Given the description of an element on the screen output the (x, y) to click on. 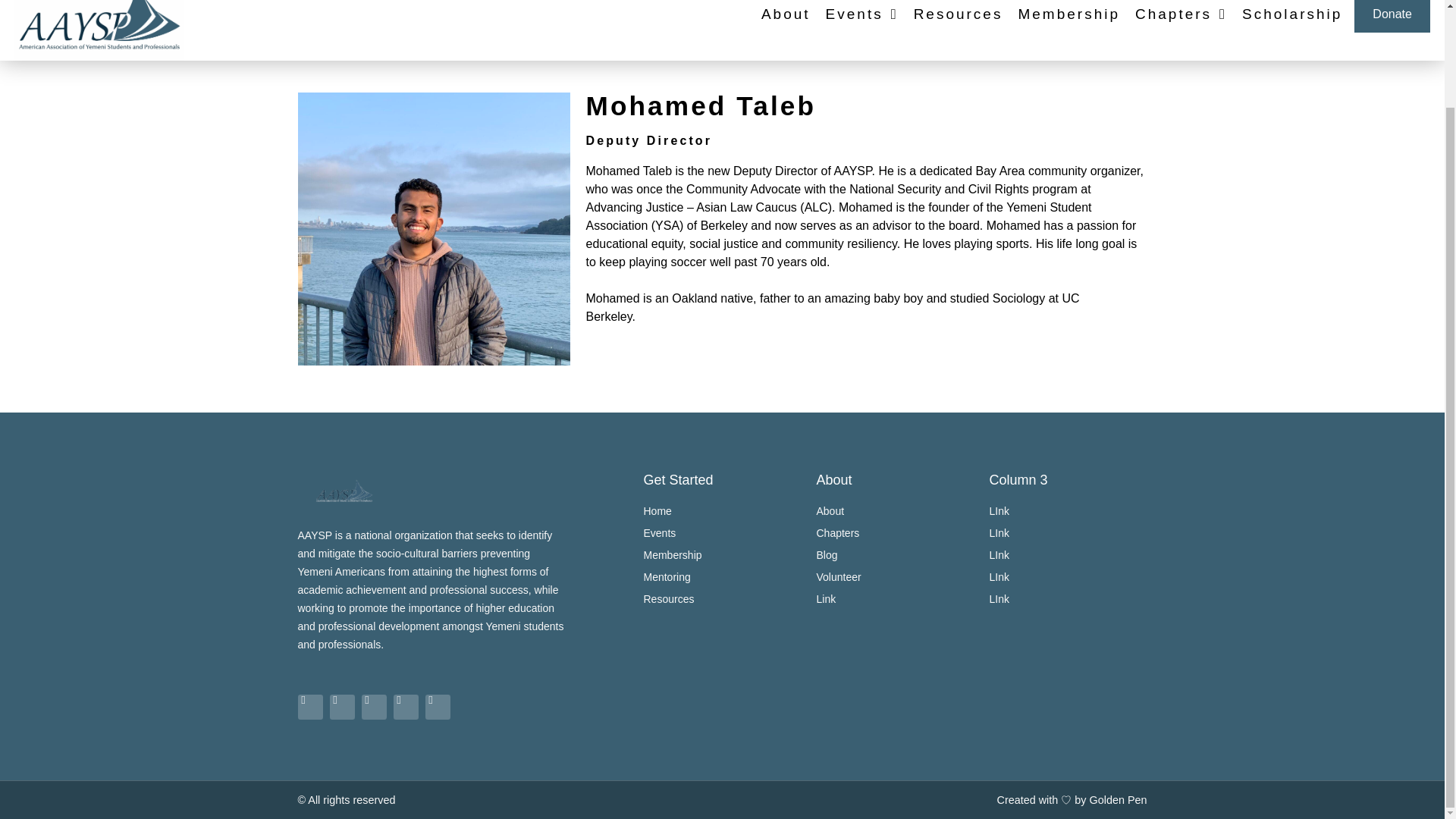
Resources (958, 15)
About (785, 15)
Membership (1068, 15)
Scholarship (1291, 15)
Events (721, 533)
Events (861, 15)
Donate (1391, 16)
Home (721, 511)
Chapters (1181, 15)
Membership (721, 555)
